Given the description of an element on the screen output the (x, y) to click on. 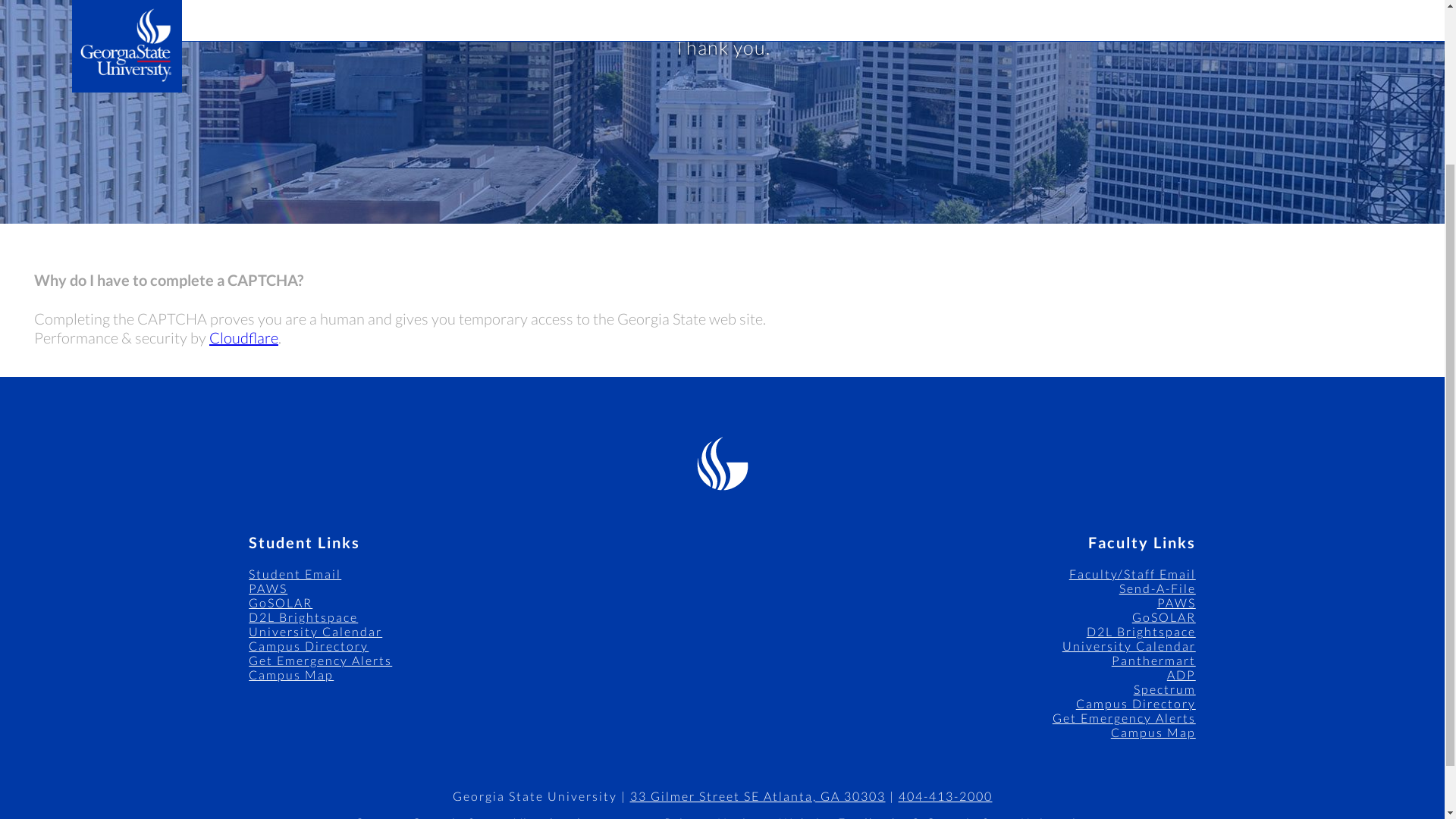
Campus Directory (1135, 703)
University Calendar (314, 631)
ADP (1181, 674)
Cloudflare (243, 337)
Send-A-File (1157, 587)
D2L Brightspace (303, 616)
Get Emergency Alerts (1123, 717)
Campus Map (1152, 731)
33 Gilmer Street SE Atlanta, GA 30303 (756, 795)
University Calendar (1128, 645)
PAWS (1176, 602)
D2L Brightspace (1140, 631)
Student Email (294, 573)
GoSOLAR (280, 602)
GoSOLAR (1163, 616)
